Given the description of an element on the screen output the (x, y) to click on. 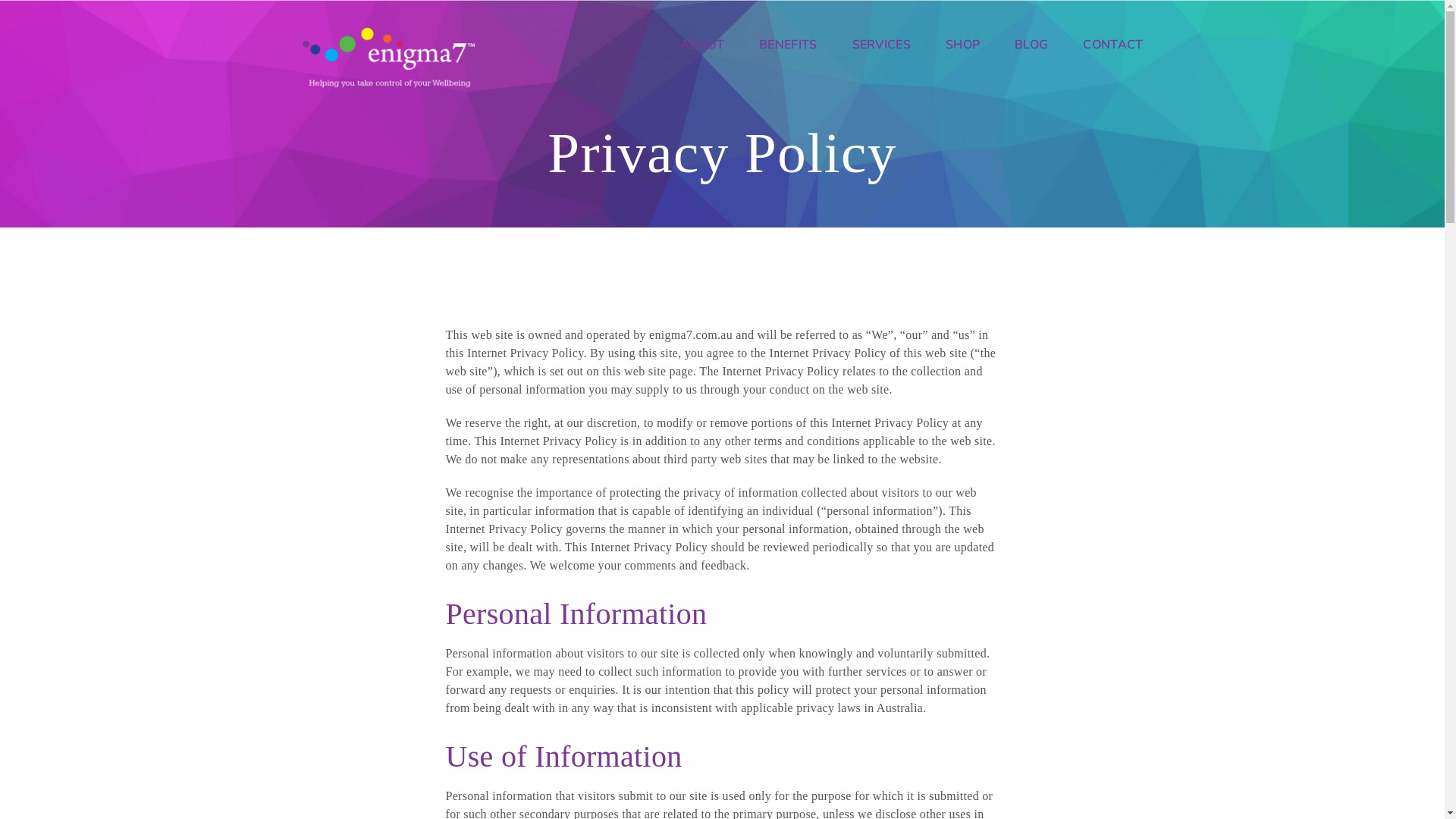
CONTACT Element type: text (1103, 44)
BENEFITS Element type: text (787, 44)
BLOG Element type: text (1031, 44)
ABOUT Element type: text (711, 44)
SHOP Element type: text (962, 44)
enigma7 - Helping You Take Control Of Your Wellbeing Element type: hover (388, 56)
SERVICES Element type: text (881, 44)
